Given the description of an element on the screen output the (x, y) to click on. 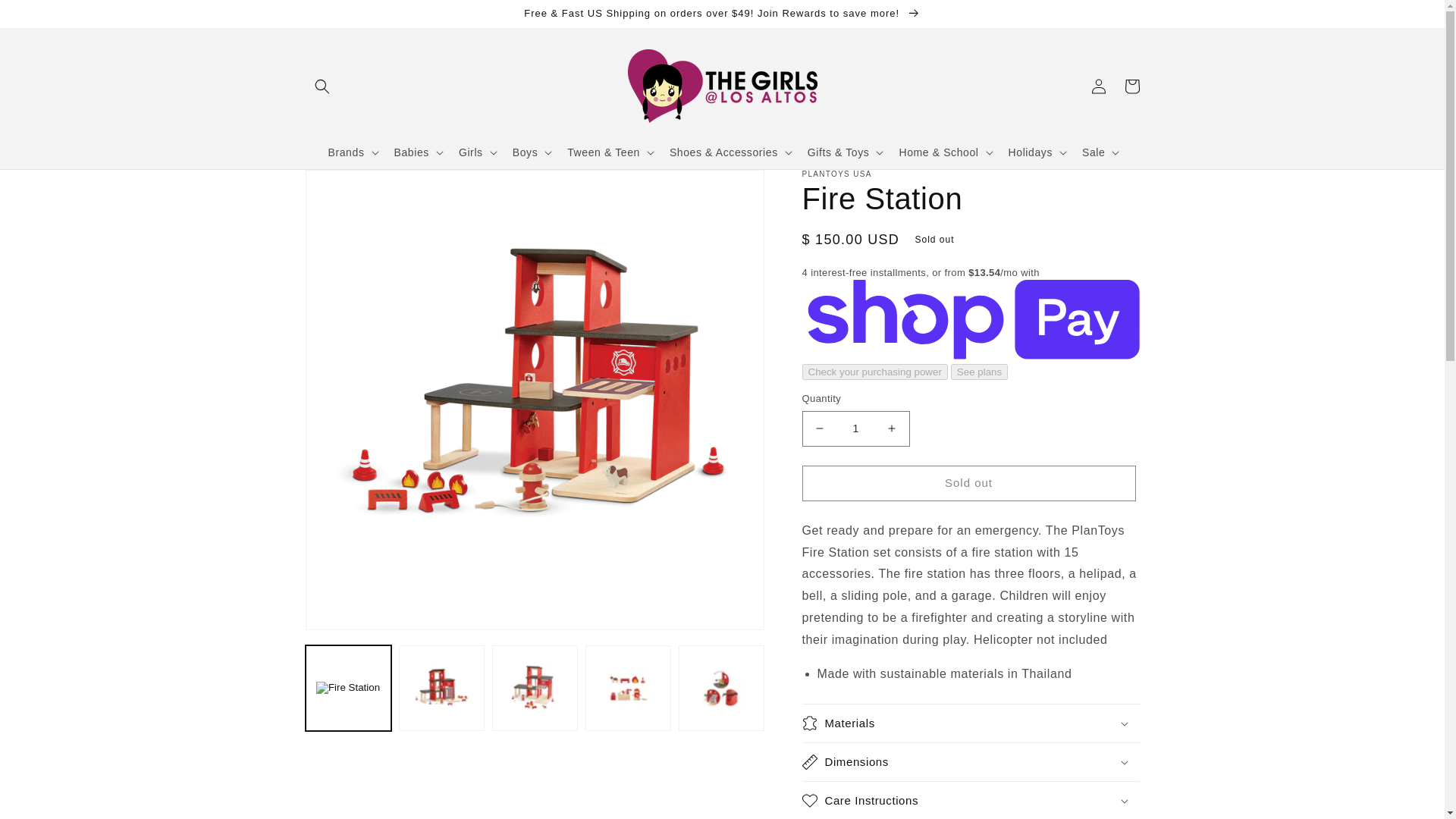
1 (856, 428)
Skip to content (45, 17)
